Given the description of an element on the screen output the (x, y) to click on. 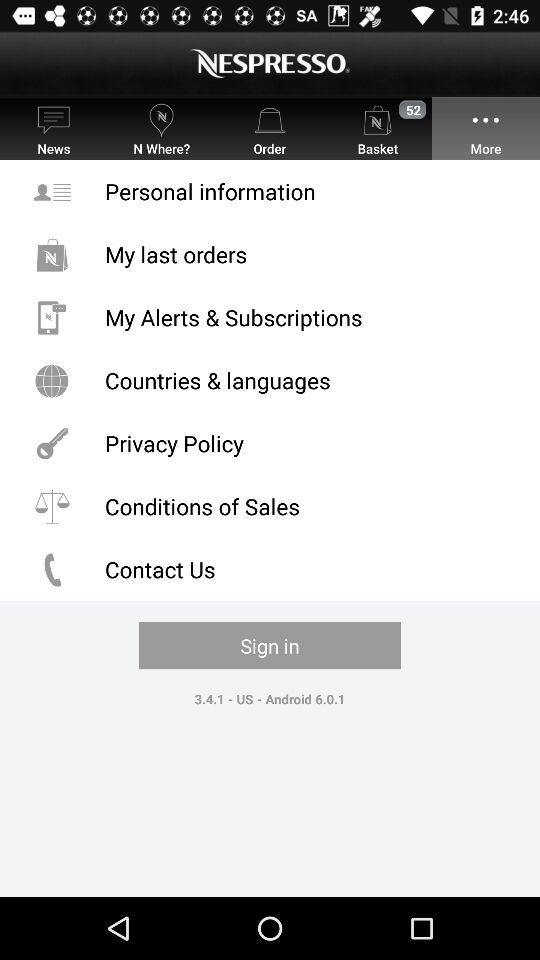
open the item below the my alerts & subscriptions (270, 380)
